Given the description of an element on the screen output the (x, y) to click on. 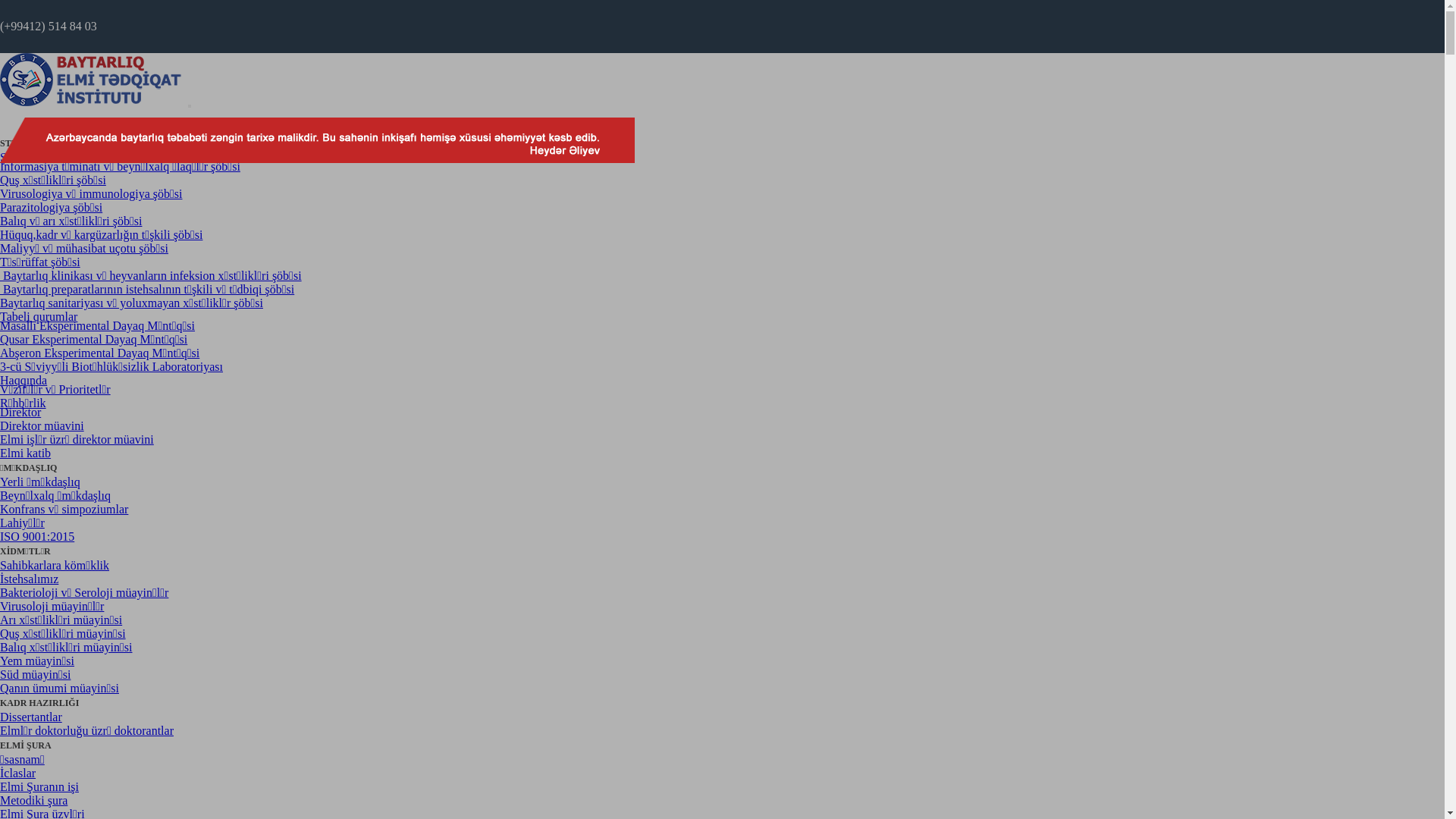
Dissertantlar Element type: text (31, 716)
Direktor Element type: text (20, 411)
Tabeli qurumlar Element type: text (38, 316)
STRUKTUR Element type: text (25, 144)
info@beti.az Element type: text (31, 78)
(+99412) 514 84 03 Element type: text (48, 25)
Elmi katib Element type: text (25, 452)
ISO 9001:2015 Element type: text (37, 536)
